Given the description of an element on the screen output the (x, y) to click on. 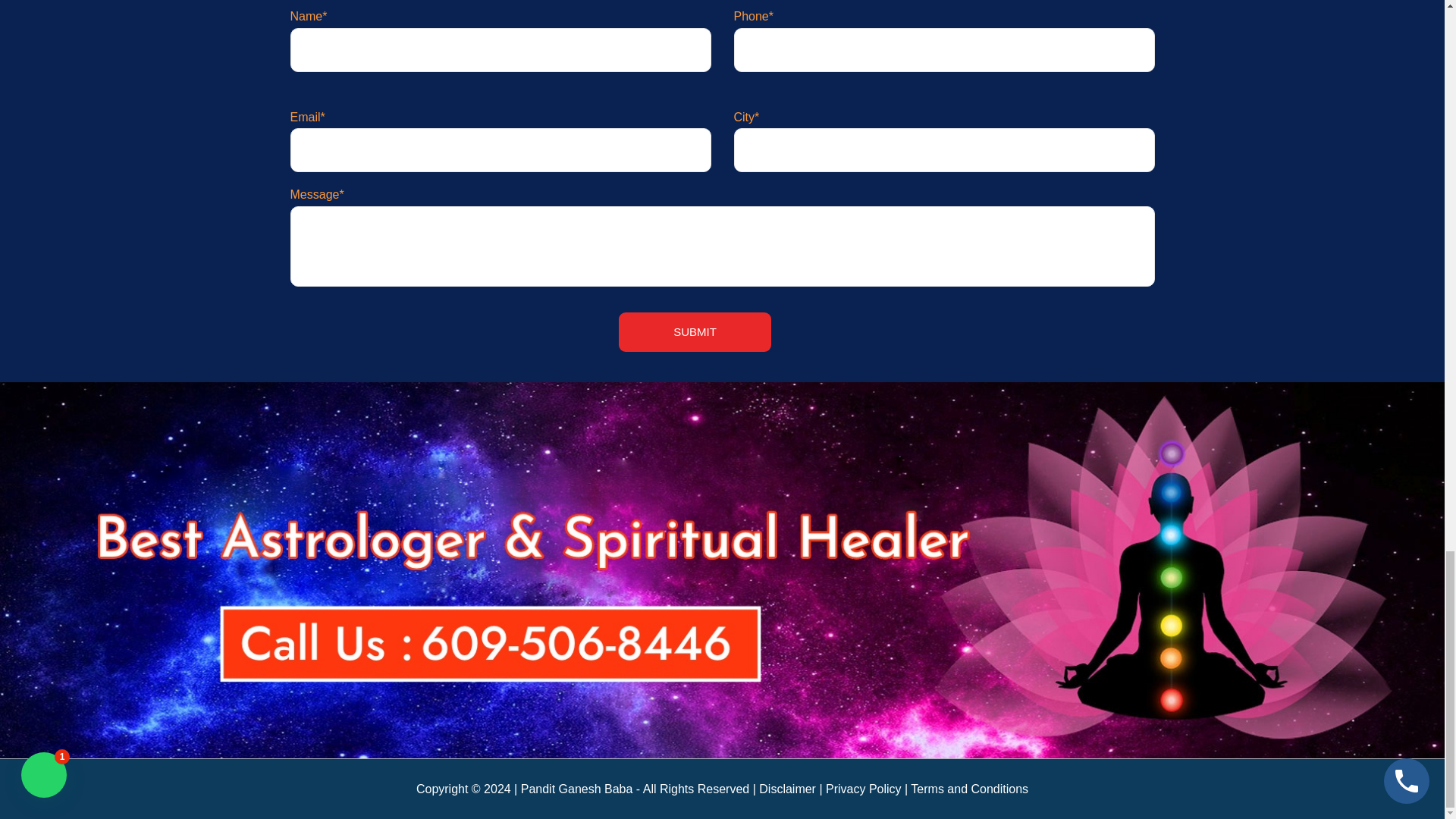
SUBMIT (694, 332)
